Given the description of an element on the screen output the (x, y) to click on. 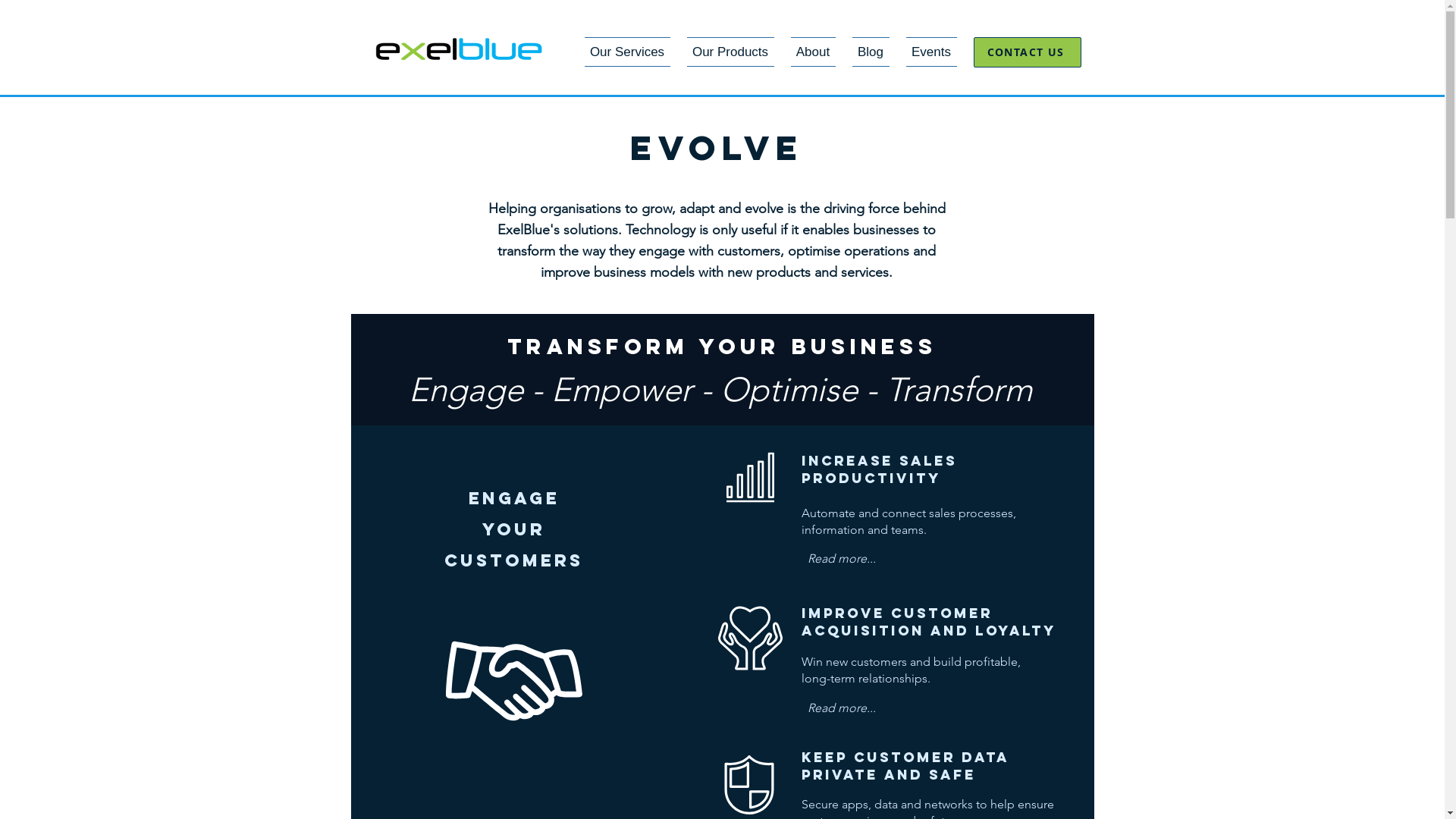
Read more... Element type: text (840, 707)
About Element type: text (813, 51)
Our Products Element type: text (729, 51)
Read more... Element type: text (840, 559)
Blog Element type: text (870, 51)
CONTACT US Element type: text (1027, 52)
Our Services Element type: text (630, 51)
